Given the description of an element on the screen output the (x, y) to click on. 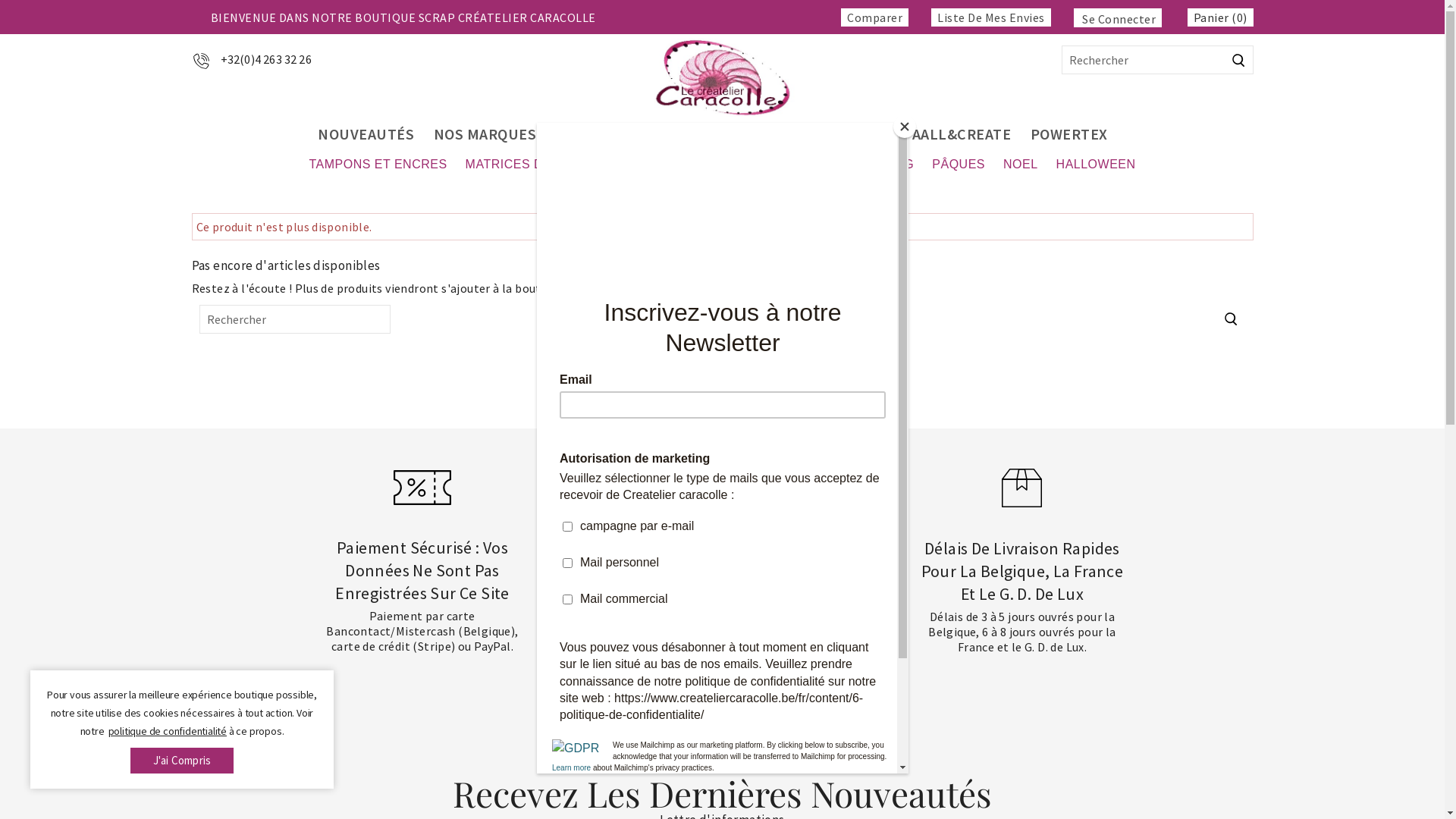
J'Ai Compris Element type: text (181, 760)
Panier (0) Element type: text (1220, 17)
HALLOWEEN Element type: text (1096, 164)
Liste De Mes Envies Element type: text (991, 17)
POWERTEX Element type: text (1068, 133)
AALL&CREATE Element type: text (961, 133)
SCRAPBOOKING Element type: text (611, 133)
SOLDERIE Element type: text (857, 133)
TAMPONS ET ENCRES Element type: text (377, 164)
MON BLOG Element type: text (879, 164)
NOEL Element type: text (1020, 164)
FEUILLES DE RIZ Element type: text (744, 133)
NOS MARQUES Element type: text (484, 133)
Comparer Element type: text (874, 17)
